Given the description of an element on the screen output the (x, y) to click on. 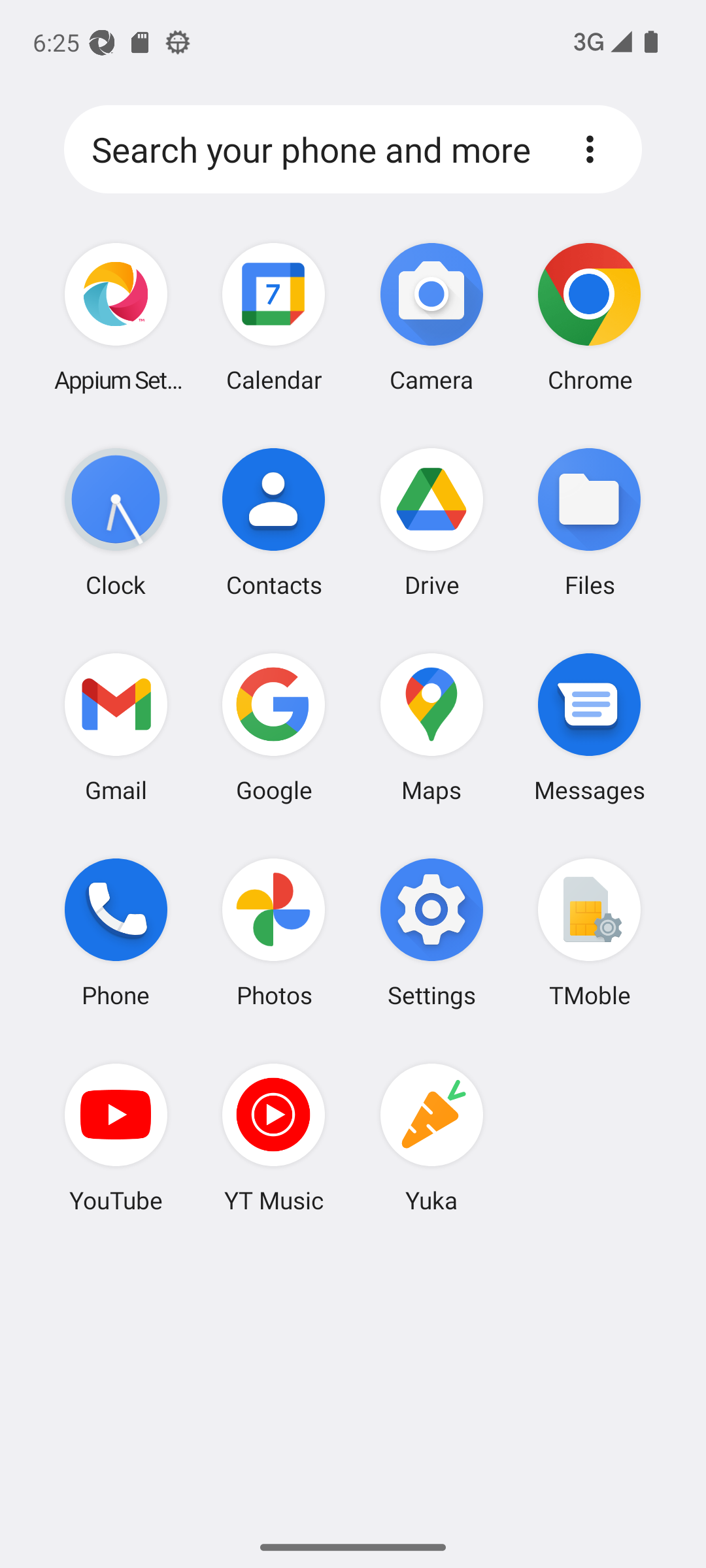
Search your phone and more (318, 149)
Preferences (589, 149)
Appium Settings (115, 317)
Calendar (273, 317)
Camera (431, 317)
Chrome (589, 317)
Clock (115, 522)
Contacts (273, 522)
Drive (431, 522)
Files (589, 522)
Gmail (115, 726)
Google (273, 726)
Maps (431, 726)
Messages (589, 726)
Phone (115, 931)
Photos (273, 931)
Settings (431, 931)
TMoble (589, 931)
YouTube (115, 1137)
YT Music (273, 1137)
Yuka (431, 1137)
